Given the description of an element on the screen output the (x, y) to click on. 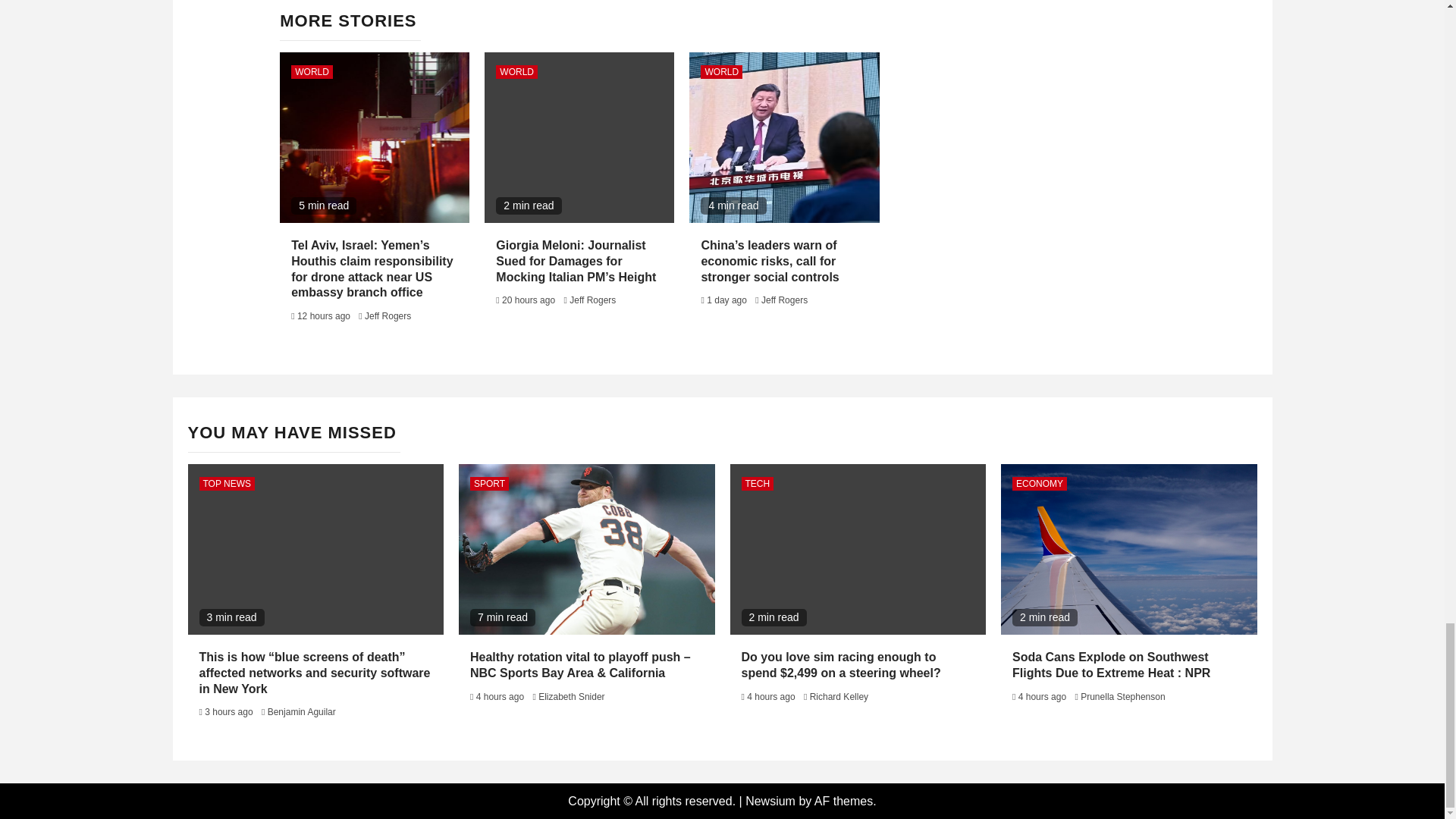
WORLD (312, 71)
WORLD (516, 71)
Jeff Rogers (592, 299)
Jeff Rogers (387, 316)
Jeff Rogers (784, 299)
WORLD (721, 71)
